Given the description of an element on the screen output the (x, y) to click on. 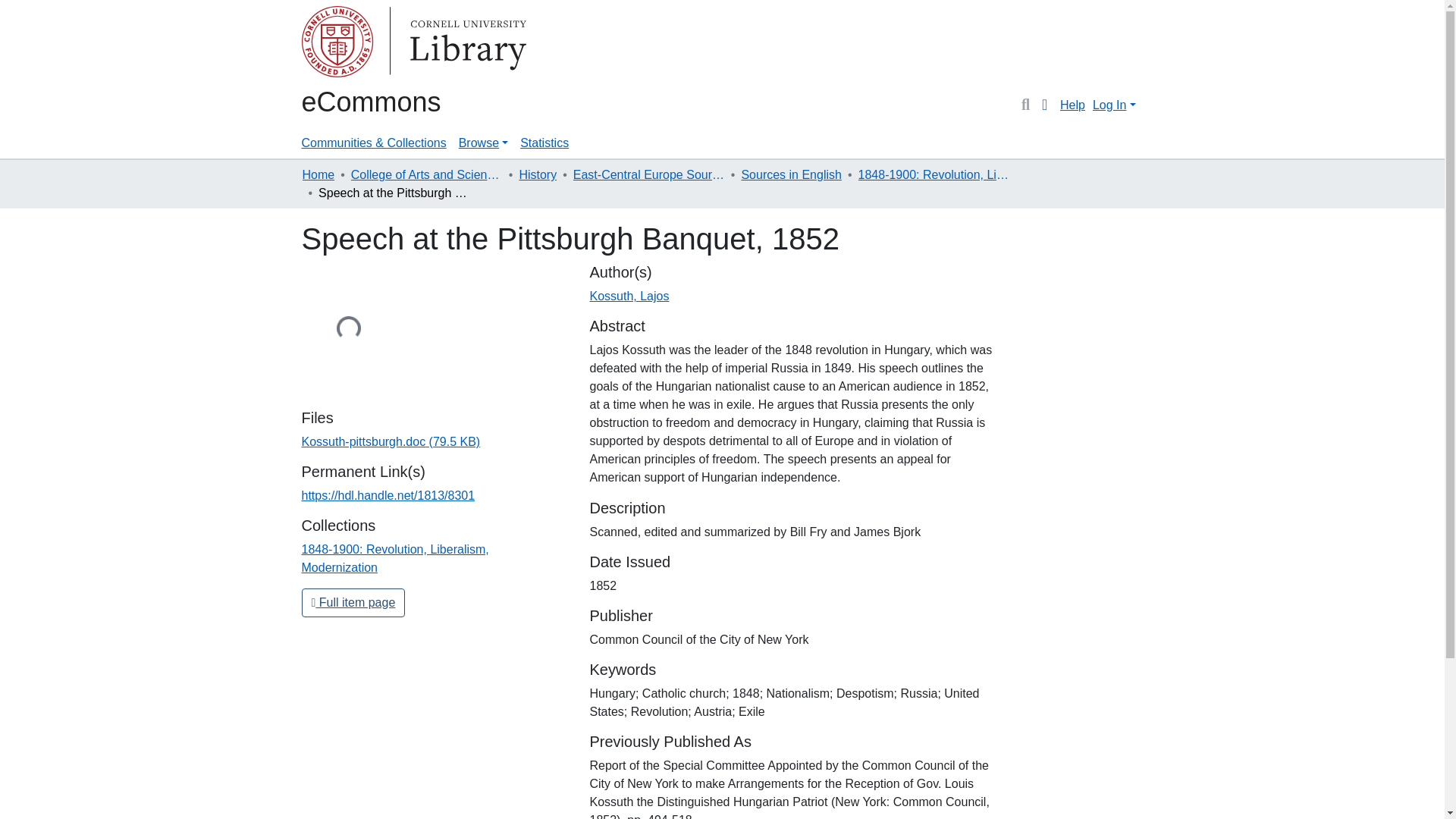
Home (317, 175)
Statistics (544, 142)
Help (1071, 104)
Kossuth, Lajos (628, 295)
Log In (1113, 104)
Full item page (353, 602)
East-Central Europe Sources (649, 175)
Sources in English (791, 175)
1848-1900: Revolution, Liberalism, Modernization (934, 175)
Search (1025, 105)
